Given the description of an element on the screen output the (x, y) to click on. 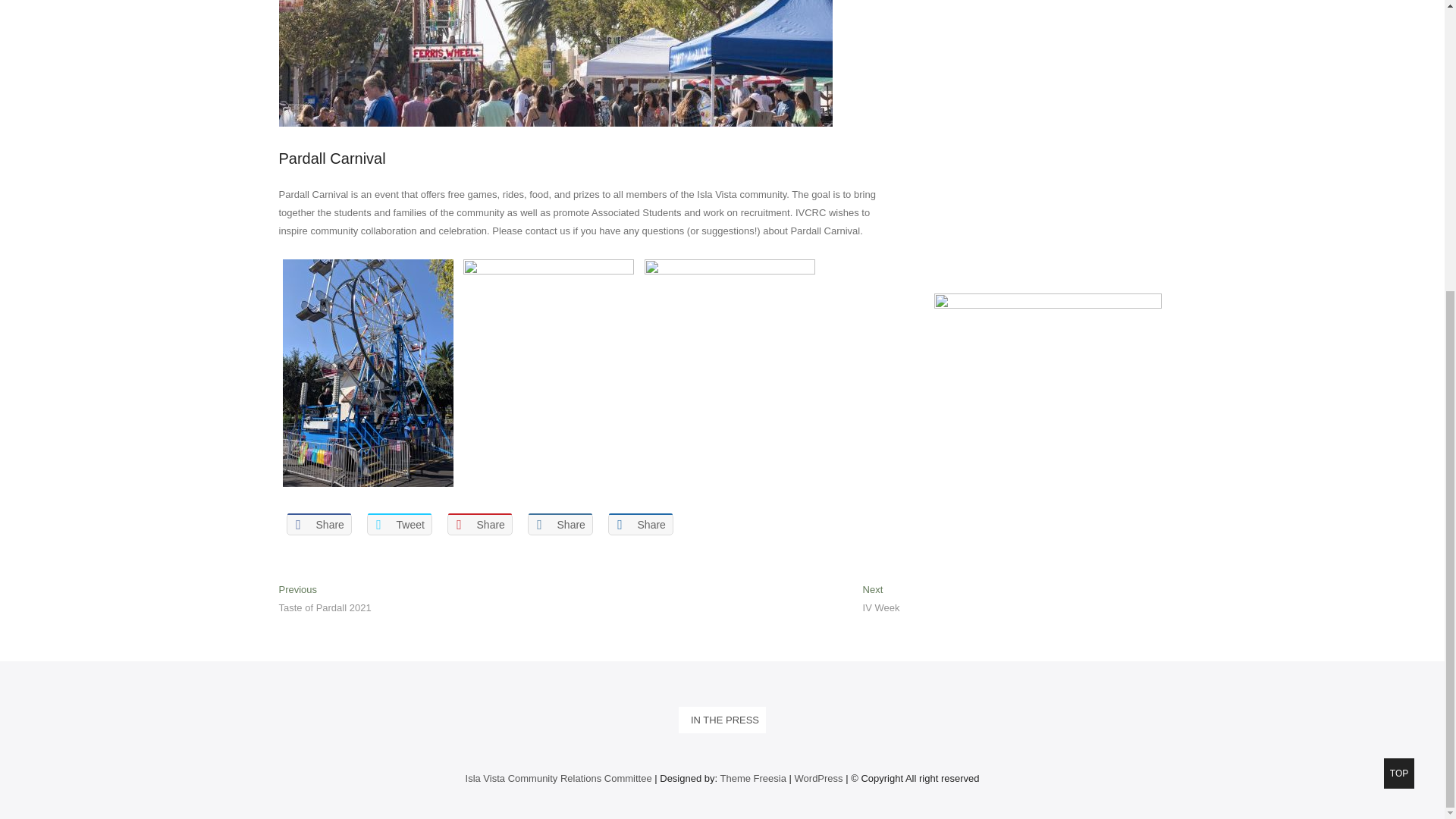
Share on Facebook (319, 524)
Share (559, 524)
Isla Vista Community Relations Committee (558, 778)
Pardall Carnival (332, 158)
Share (881, 600)
WordPress (479, 524)
Share (818, 778)
Share on Pinterest (325, 600)
